Given the description of an element on the screen output the (x, y) to click on. 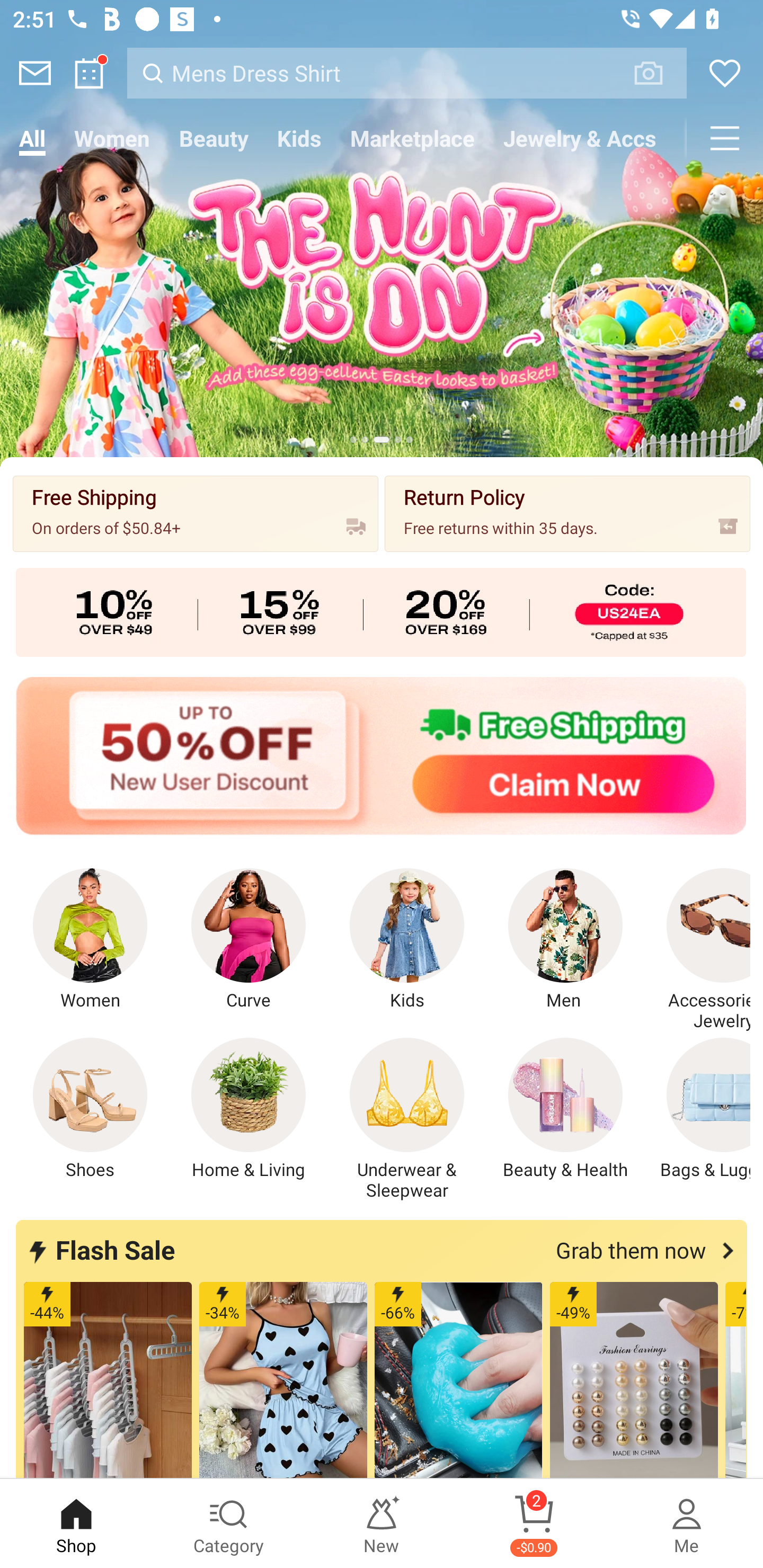
Wishlist (724, 72)
VISUAL SEARCH (657, 72)
All (31, 137)
Women (111, 137)
Beauty (213, 137)
Kids (298, 137)
Marketplace (412, 137)
Jewelry & Accs (580, 137)
Free Shipping On orders of $50.84+ (195, 513)
Return Policy Free returns within 35 days. (567, 513)
Women (89, 939)
Curve (248, 939)
Kids (406, 939)
Men  (565, 939)
Accessories & Jewelry (698, 949)
Shoes (89, 1109)
Home & Living (248, 1109)
Underwear & Sleepwear (406, 1119)
Beauty & Health (565, 1109)
Bags & Luggage (698, 1109)
Category (228, 1523)
New (381, 1523)
Cart 2 -$0.90 (533, 1523)
Me (686, 1523)
